Given the description of an element on the screen output the (x, y) to click on. 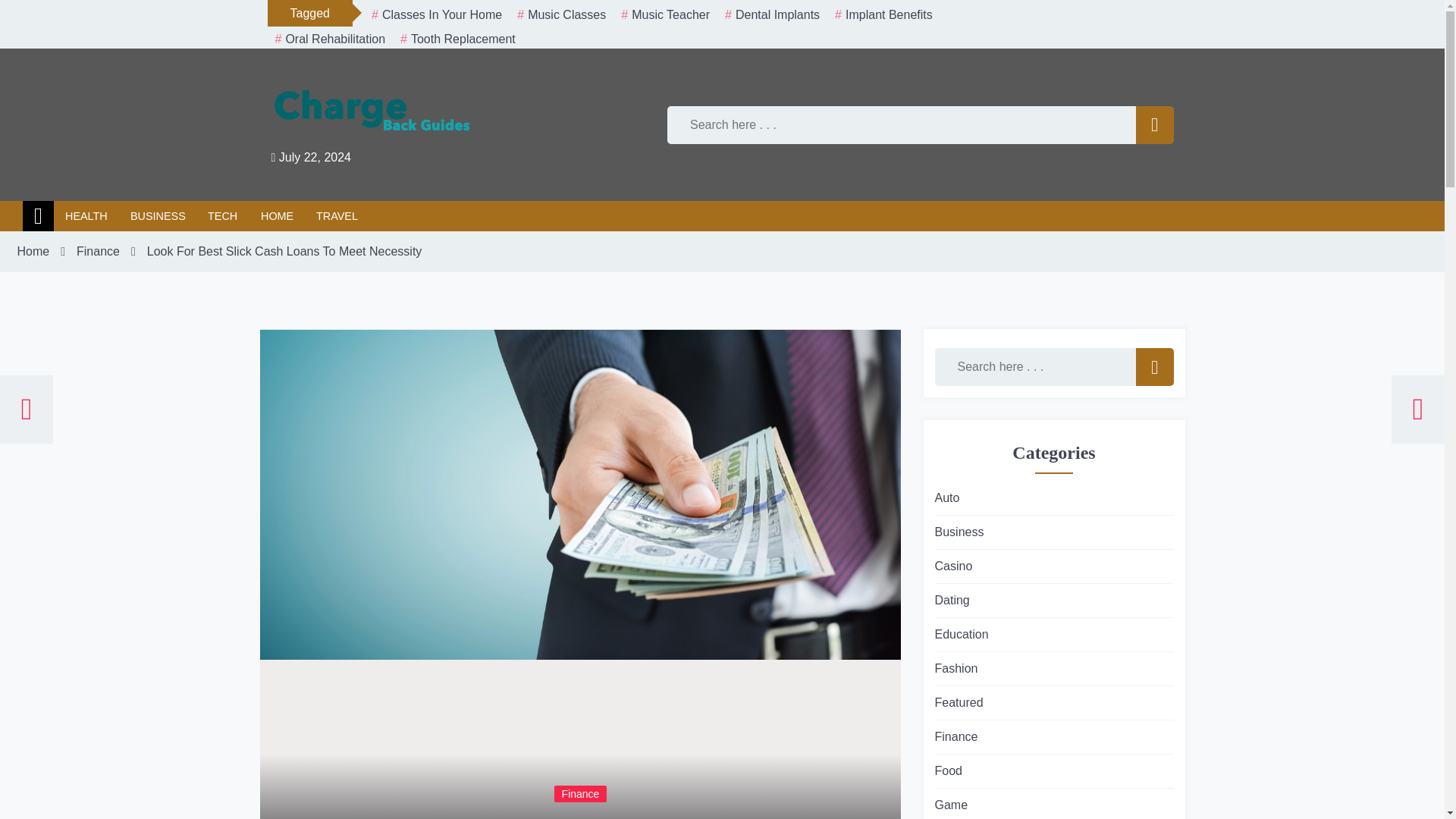
BUSINESS (157, 215)
Tooth Replacement (457, 39)
Education (961, 634)
Oral Rehabilitation (329, 39)
Finance (580, 793)
Classes In Your Home (436, 14)
TRAVEL (336, 215)
Music Teacher (664, 14)
Music Classes (560, 14)
HOME (276, 215)
Fashion (955, 669)
Dating (951, 600)
Dental Implants (772, 14)
Home (33, 251)
Featured (958, 702)
